Given the description of an element on the screen output the (x, y) to click on. 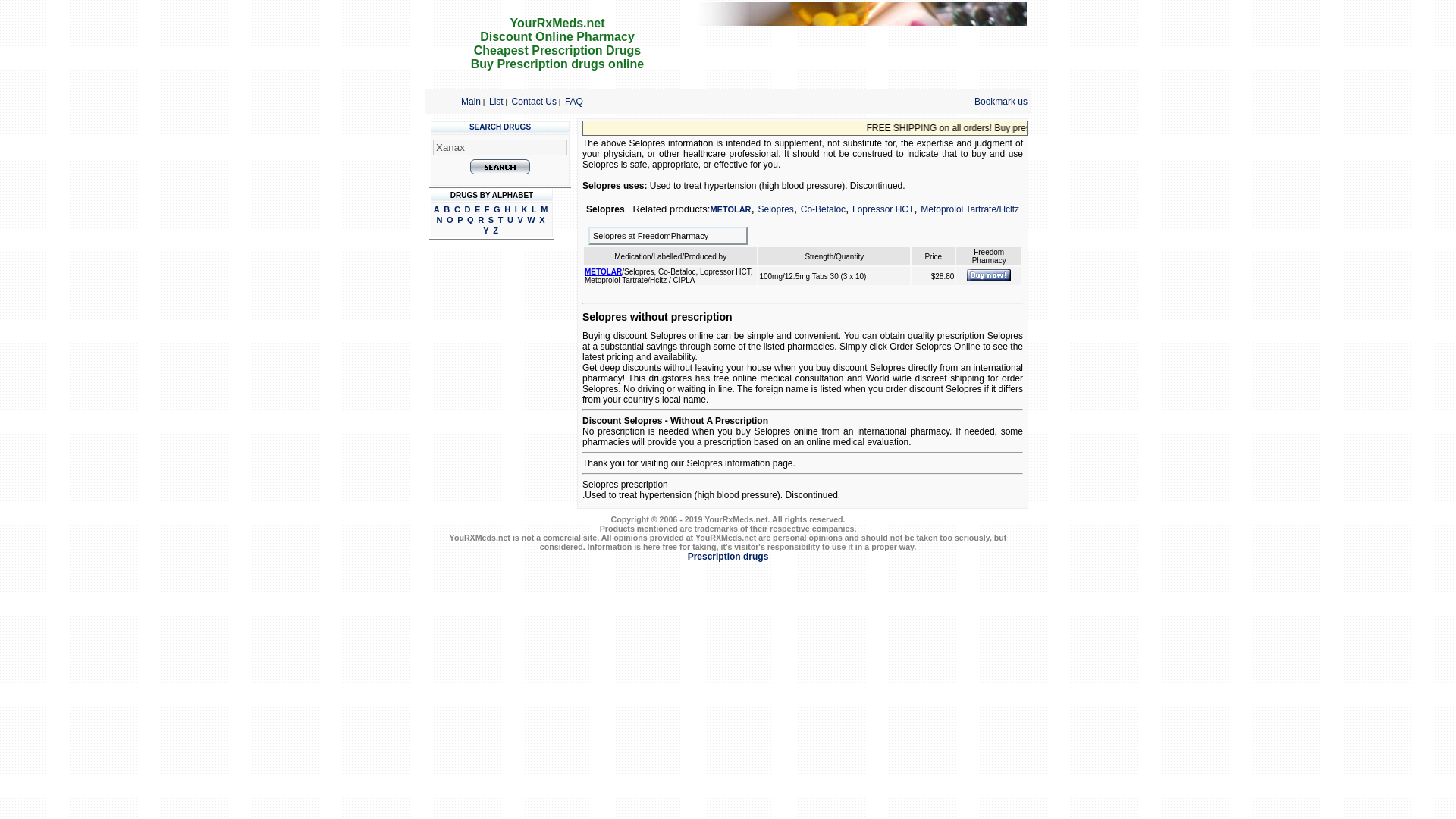
Xanax (499, 147)
Lopressor HCT (882, 208)
search (499, 166)
METOLAR without prescription (988, 275)
Main (470, 100)
METOLAR (730, 208)
METOLAR (603, 271)
FAQ (573, 100)
Prescription drugs (727, 556)
List (496, 100)
